Given the description of an element on the screen output the (x, y) to click on. 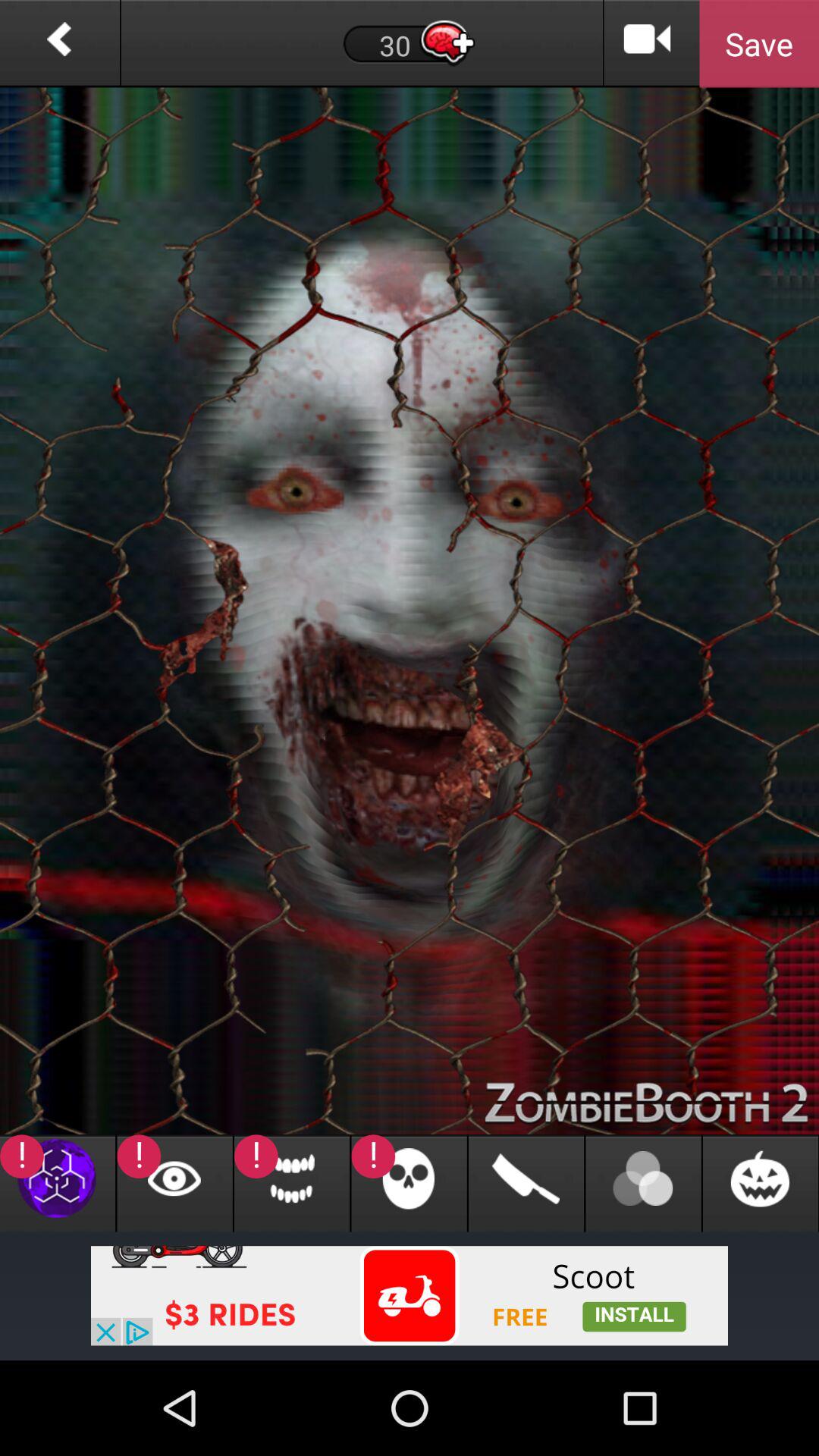
go to previous page (59, 43)
